Given the description of an element on the screen output the (x, y) to click on. 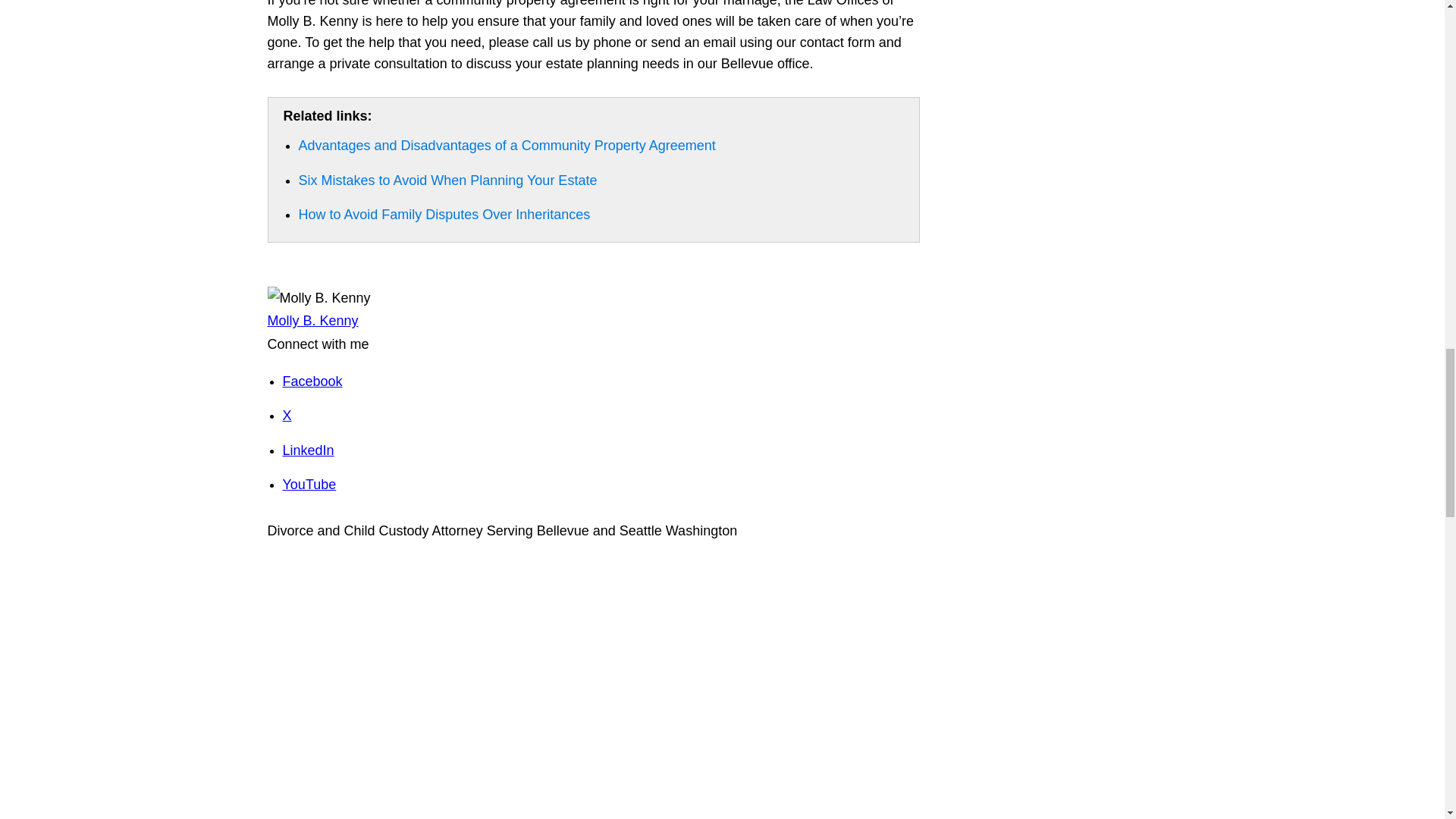
Find me on Facebook (312, 380)
Connect with me on LinkedIn (307, 450)
Follow me on X (286, 415)
Watch me on YouTube (309, 484)
